Given the description of an element on the screen output the (x, y) to click on. 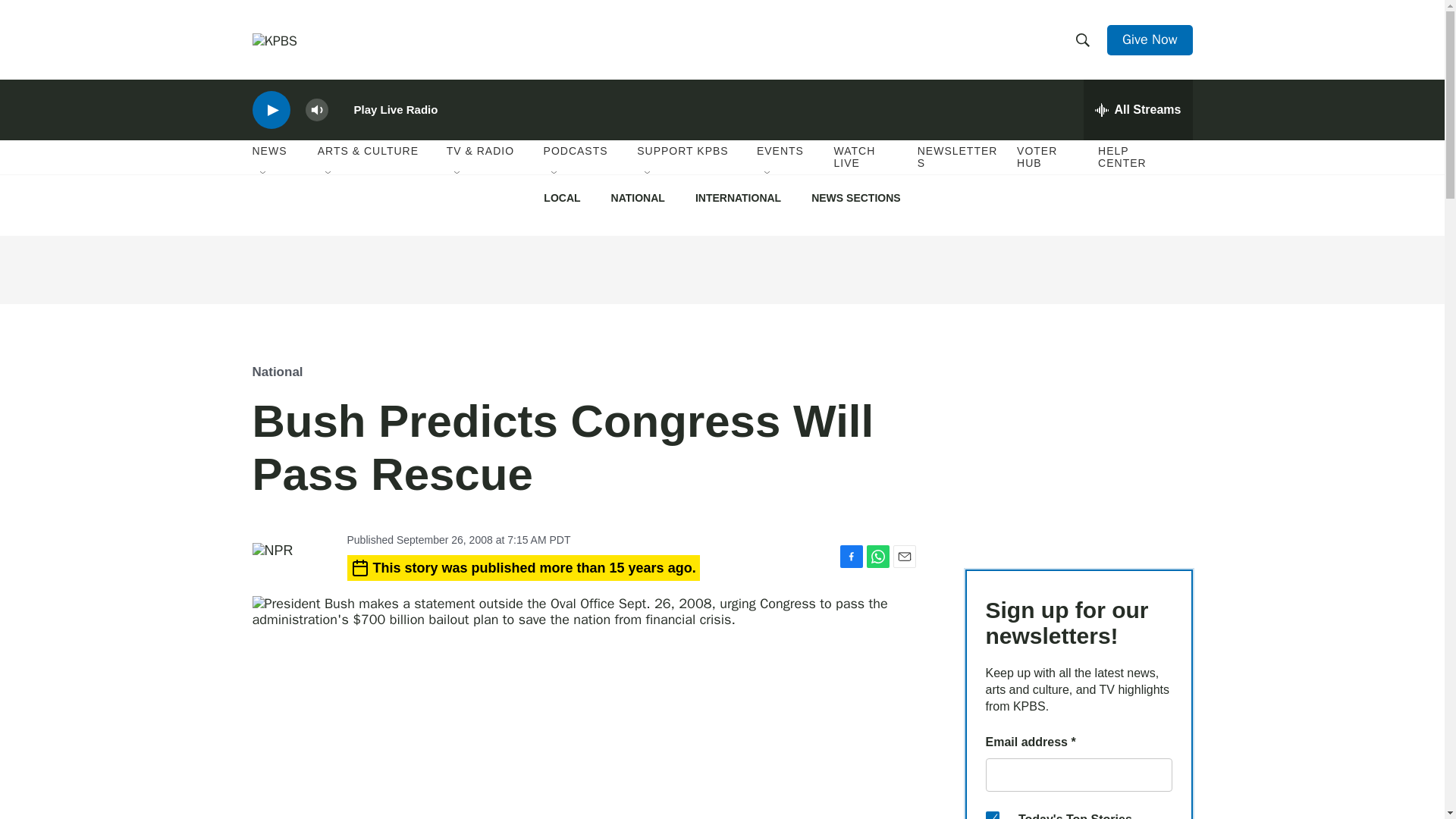
4 (991, 815)
